Given the description of an element on the screen output the (x, y) to click on. 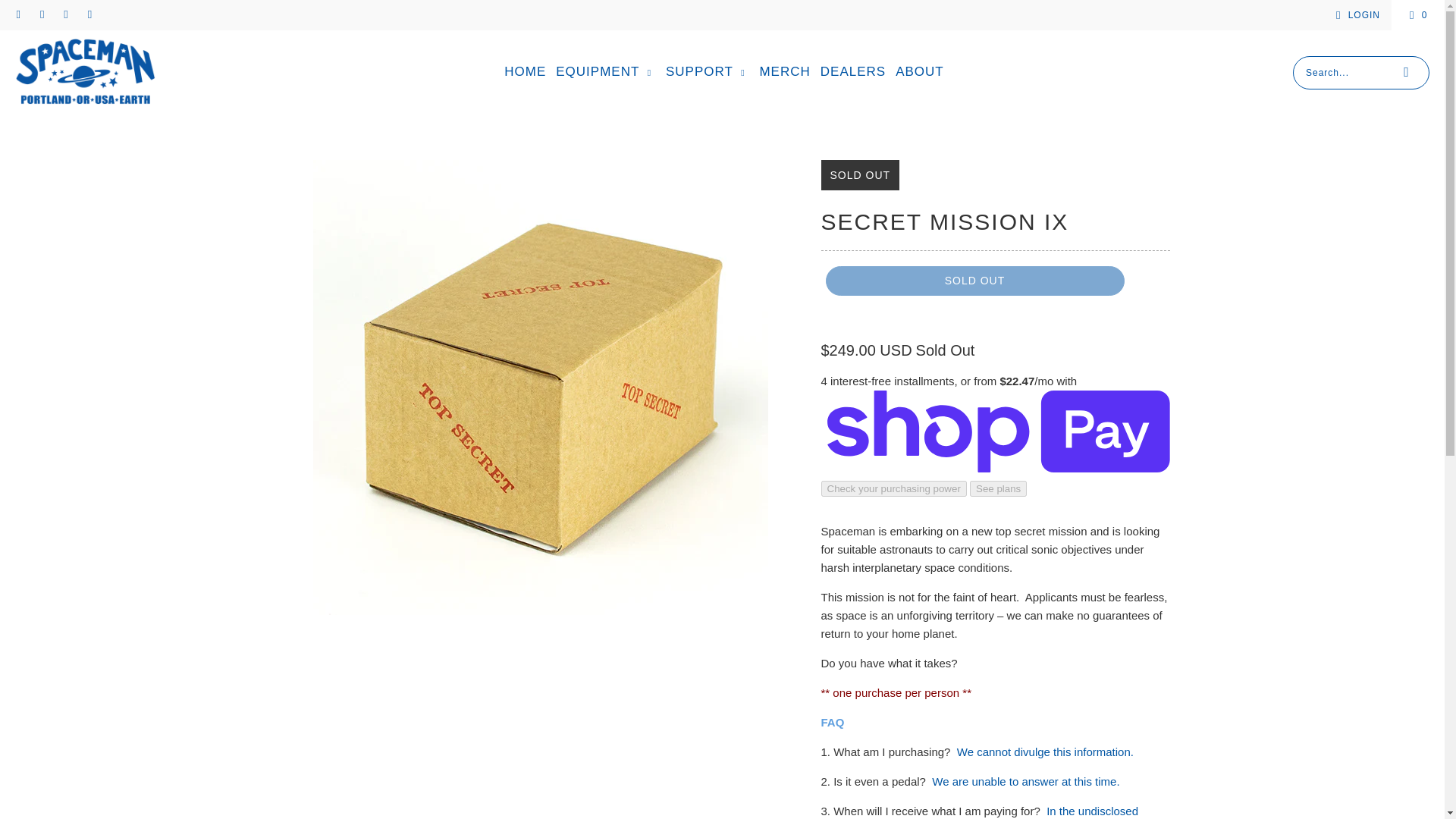
My Account  (1355, 14)
Spaceman Effects on YouTube (89, 14)
Spaceman Effects (84, 72)
Spaceman Effects on Instagram (65, 14)
Spaceman Effects on Facebook (41, 14)
Email Spaceman Effects (17, 14)
LOGIN (1355, 14)
